Given the description of an element on the screen output the (x, y) to click on. 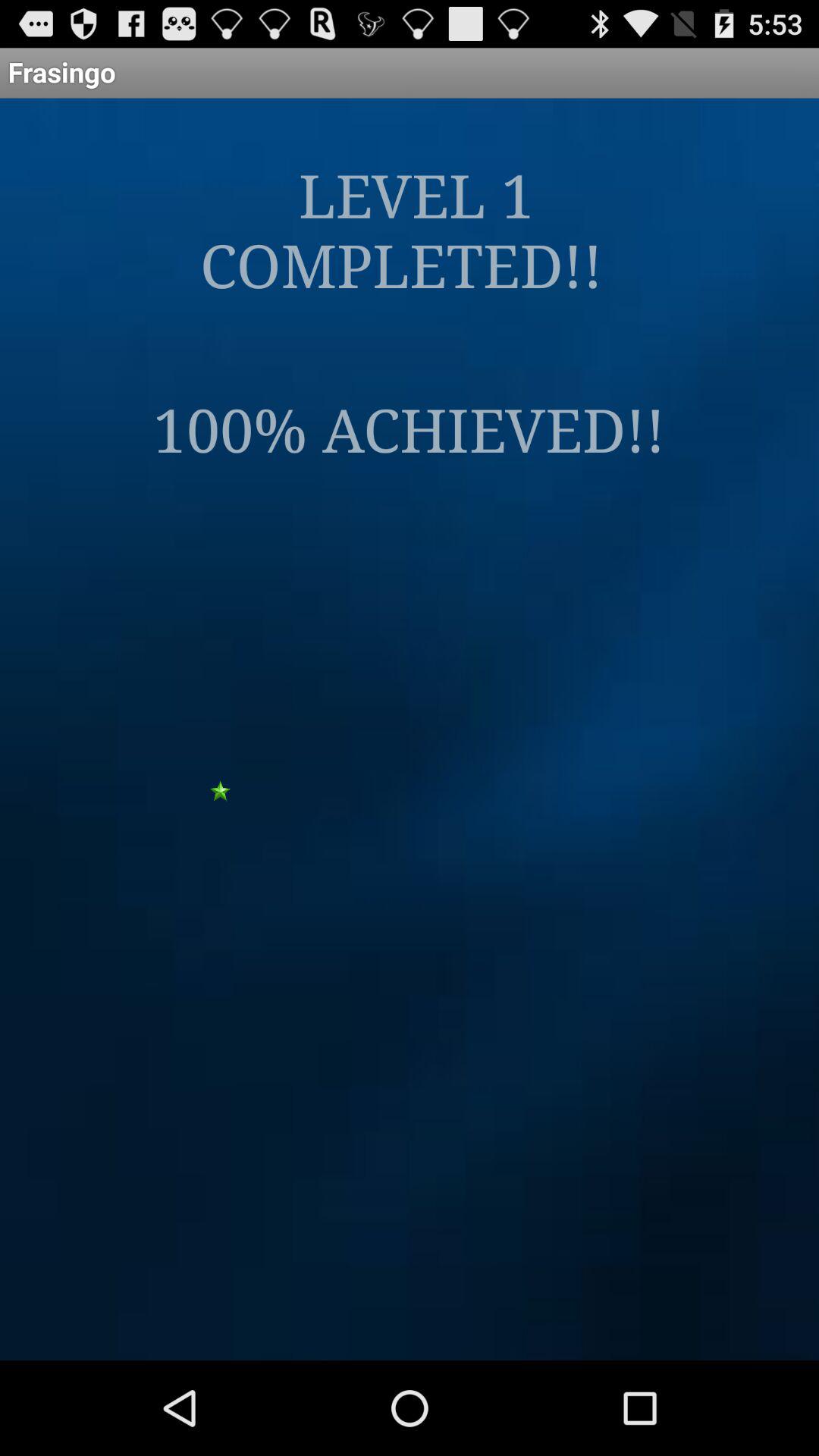
choose the  level 1 completed!! (408, 228)
